Given the description of an element on the screen output the (x, y) to click on. 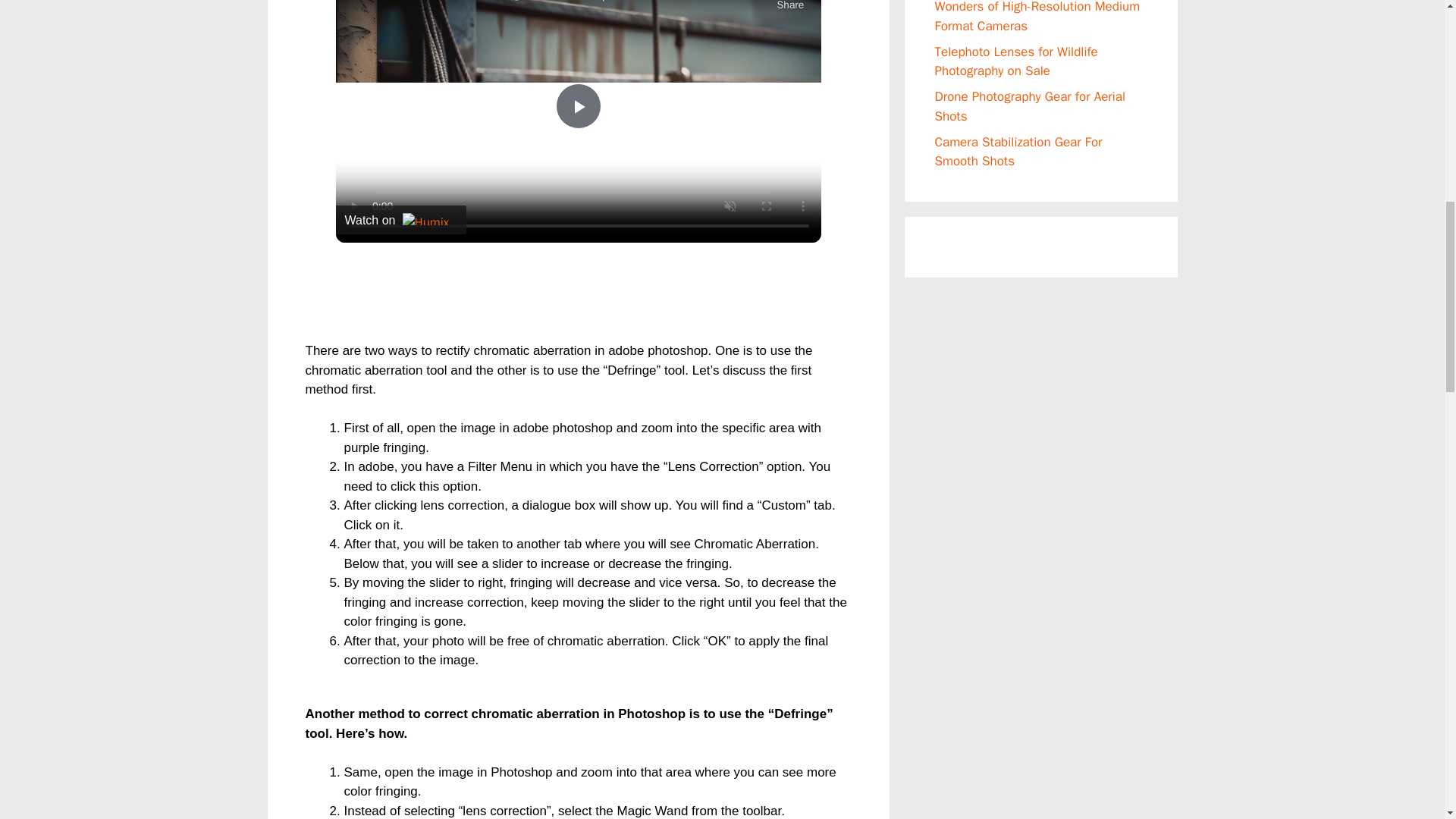
Wonders of High-Resolution Medium Format Cameras (1037, 17)
Telephoto Lenses for Wildlife Photography on Sale (1015, 61)
share (789, 6)
Share (789, 6)
Watch on (399, 219)
Play Video (576, 105)
Play Video (576, 105)
